Given the description of an element on the screen output the (x, y) to click on. 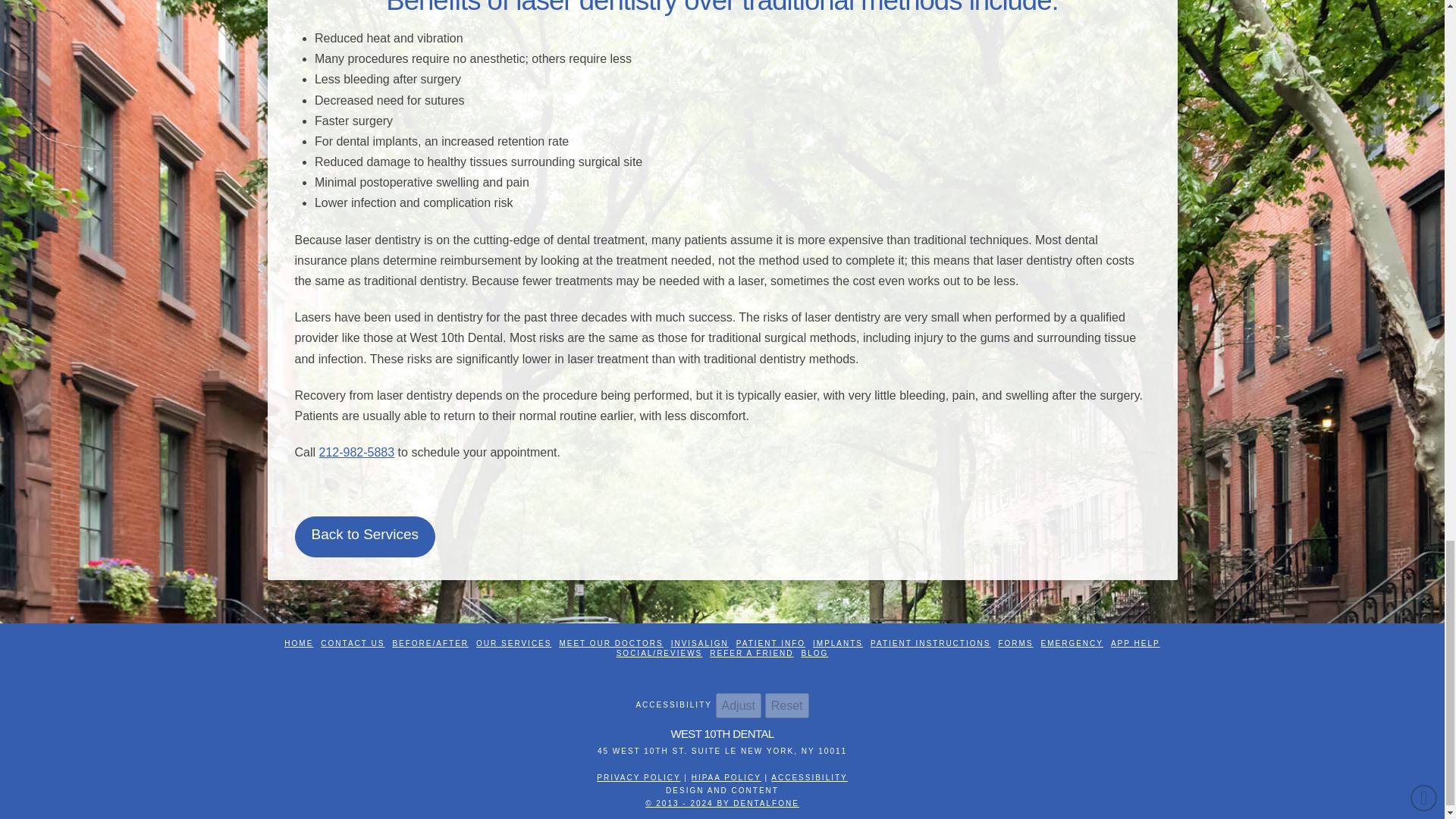
Phone Number (356, 451)
Dentalfone (726, 777)
Dentalfone (722, 803)
Contact Our Office (352, 643)
Dentalfone (637, 777)
Return to Services (363, 536)
Dentalfone (809, 777)
